Given the description of an element on the screen output the (x, y) to click on. 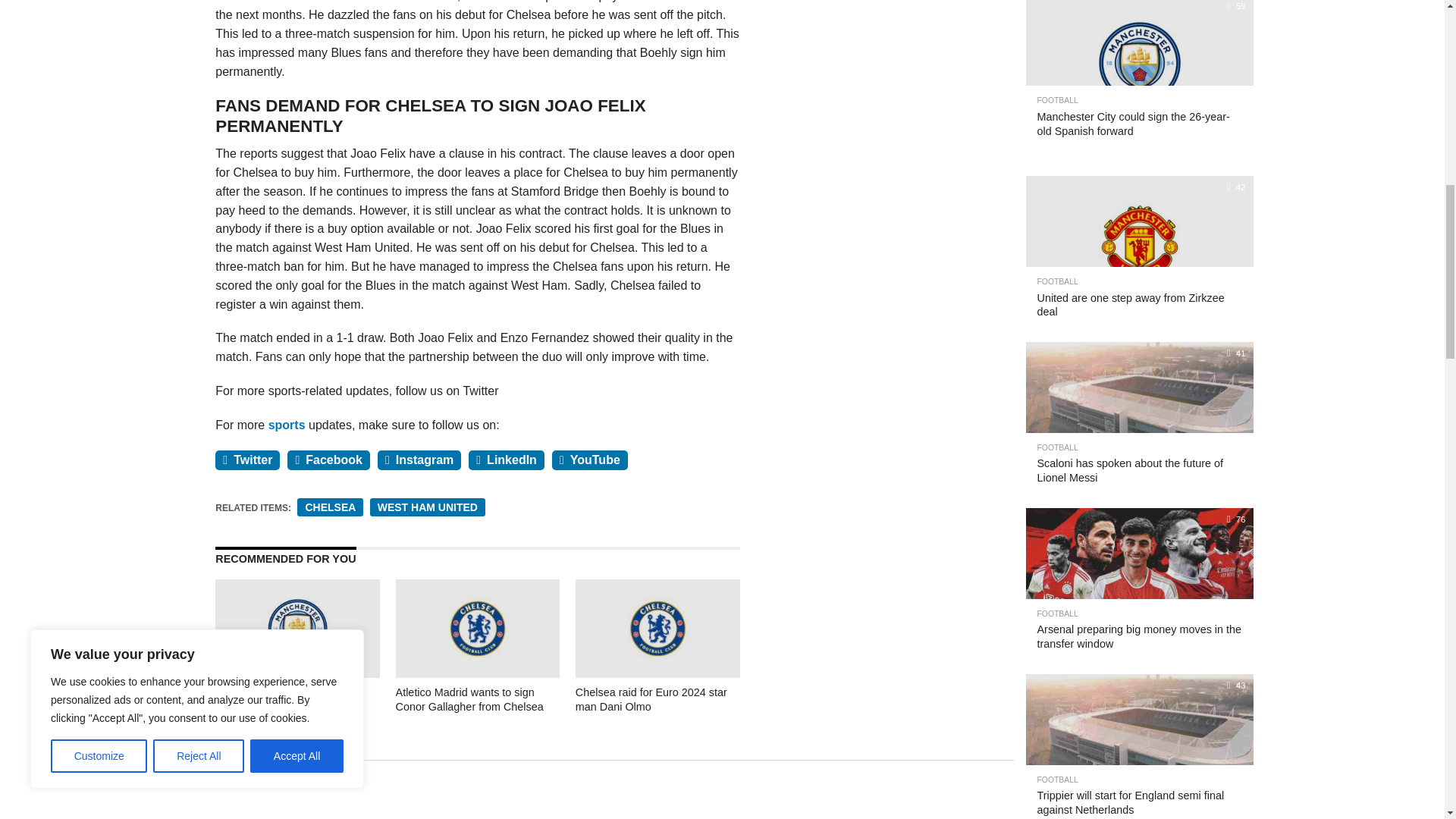
Chelsea raid for Euro 2024 star man Dani Olmo (657, 673)
Atletico Madrid wants to sign Conor Gallagher from Chelsea (478, 673)
Rodri praised the former Manchester City winger (297, 673)
